Given the description of an element on the screen output the (x, y) to click on. 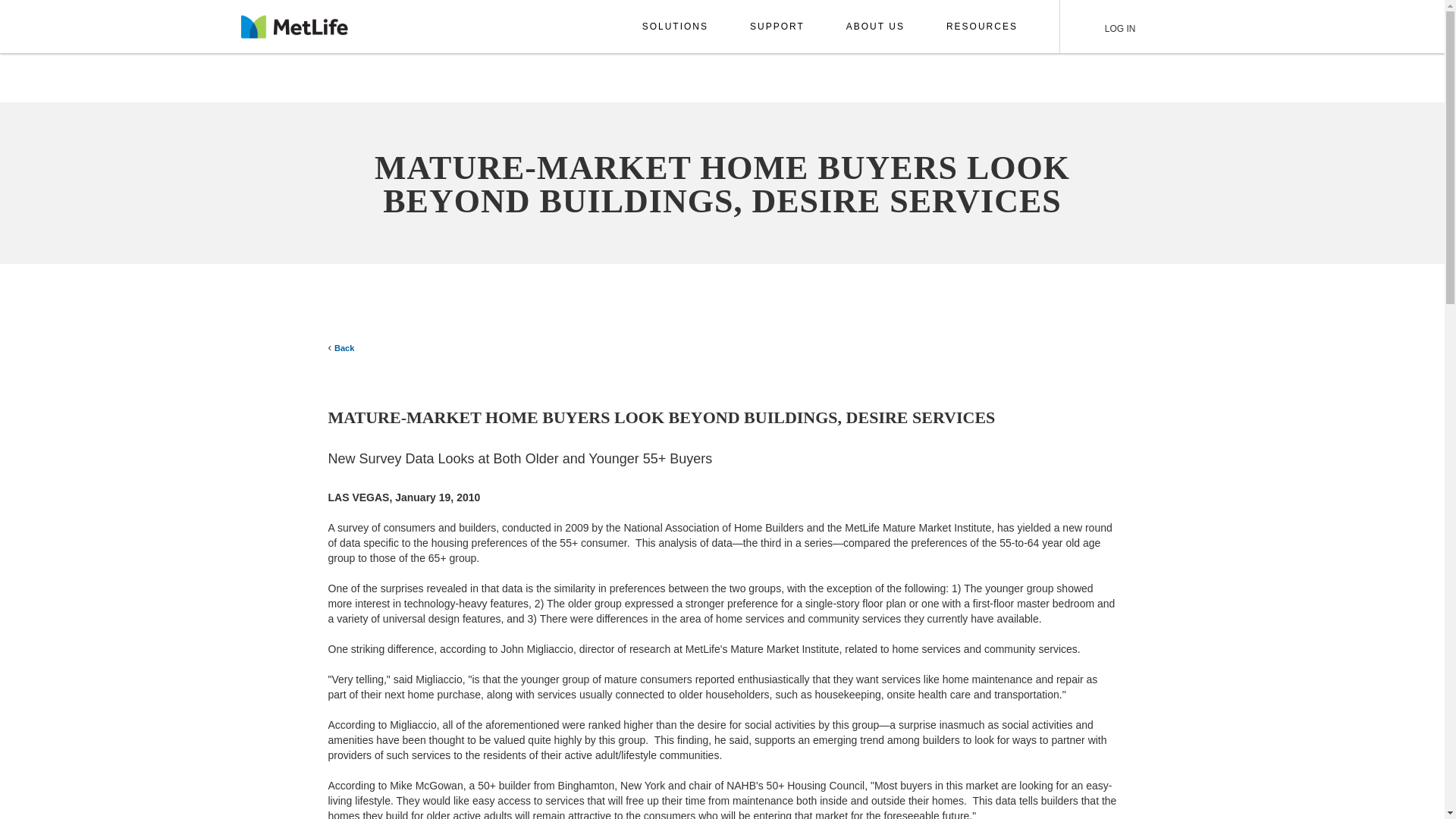
LOG IN (1112, 27)
SEARCH (1171, 26)
LOG IN LOG IN (1112, 27)
